Given the description of an element on the screen output the (x, y) to click on. 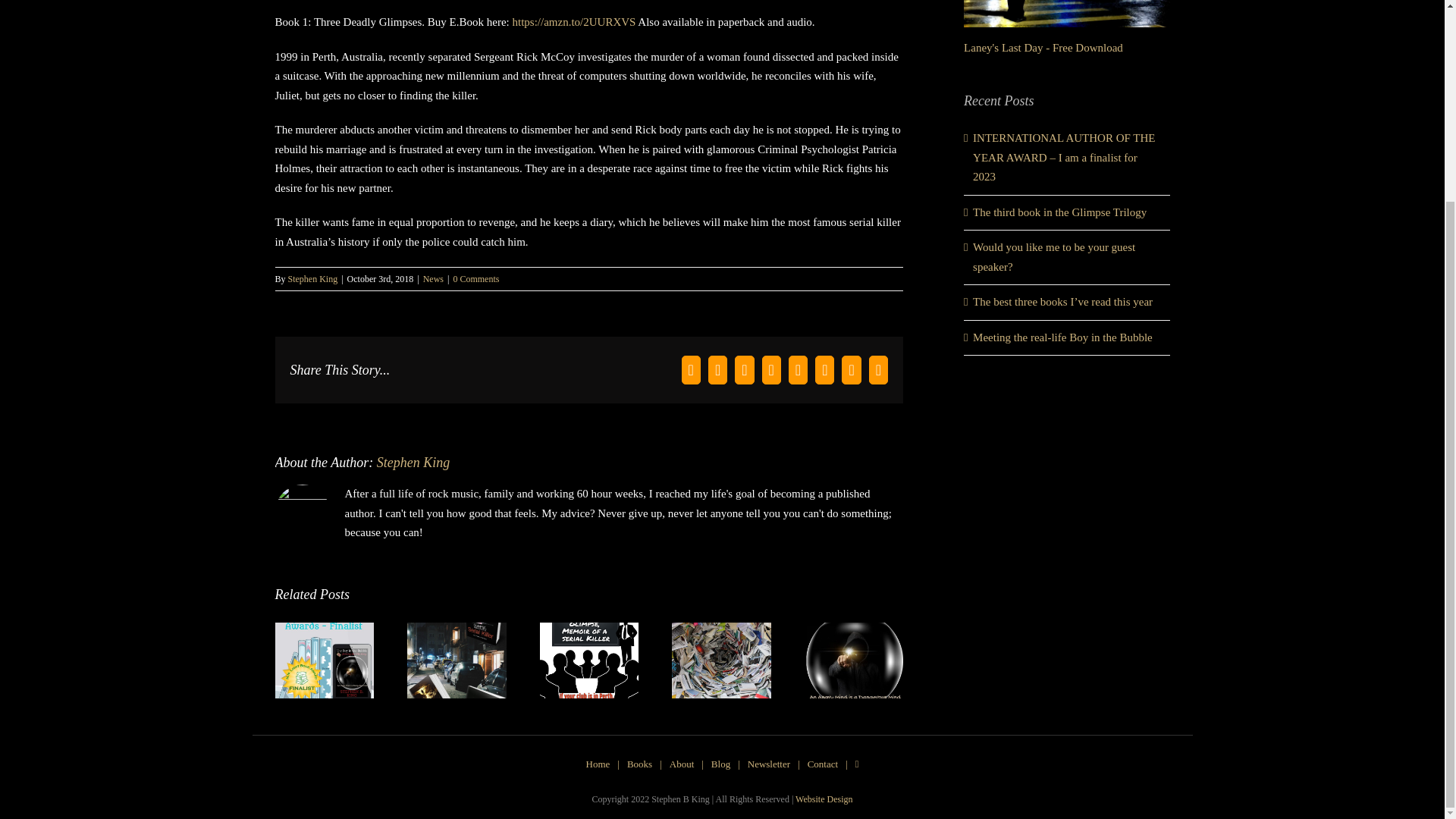
Stephen King (413, 462)
News (433, 278)
Posts by Stephen King (413, 462)
Stephen King (312, 278)
Posts by Stephen King (312, 278)
0 Comments (475, 278)
